Given the description of an element on the screen output the (x, y) to click on. 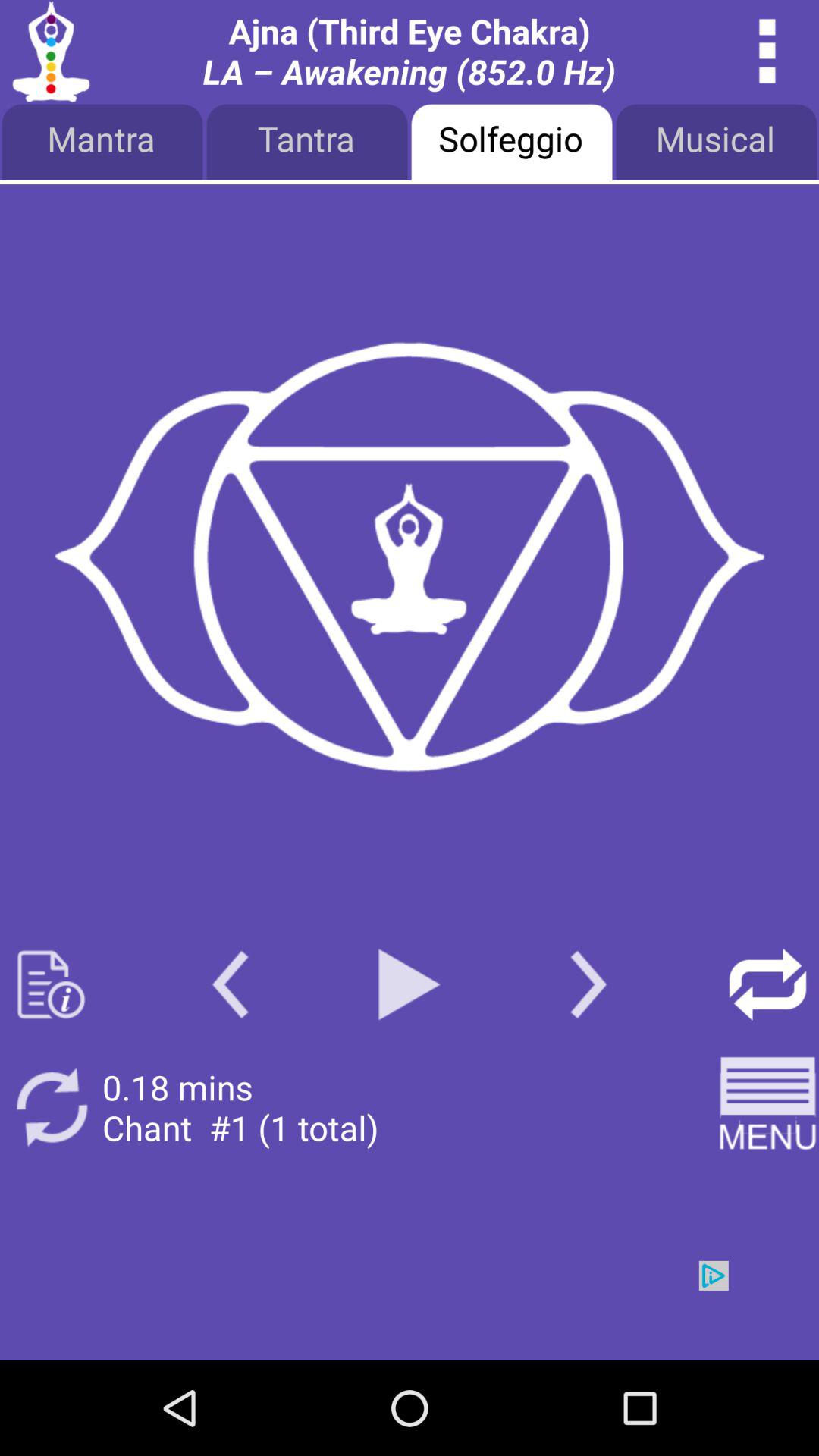
menu page (767, 1107)
